Given the description of an element on the screen output the (x, y) to click on. 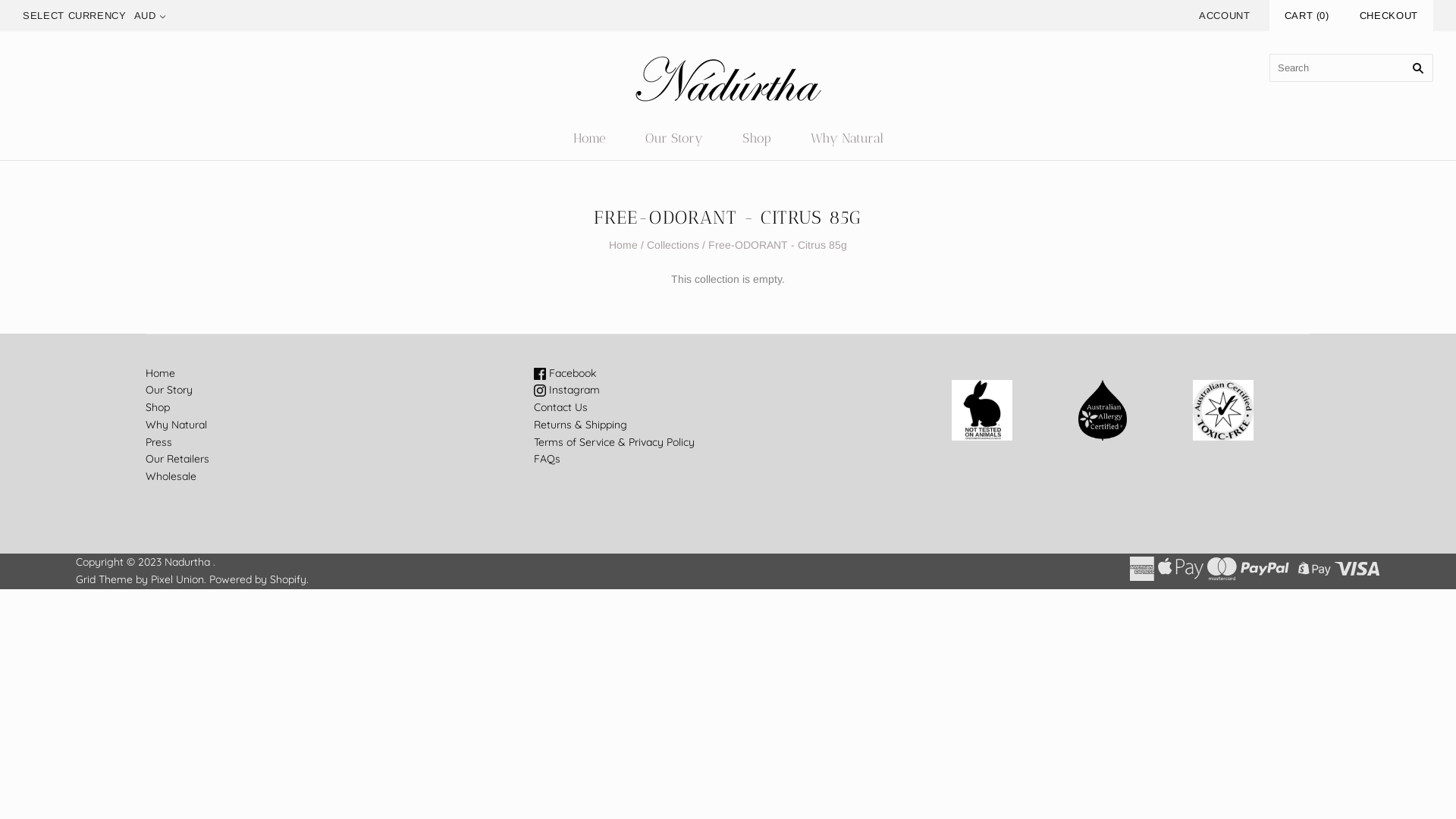
Our Story Element type: text (168, 389)
Our Retailers Element type: text (177, 458)
Shop Element type: text (755, 138)
Facebook Element type: text (564, 372)
FAQs Element type: text (546, 458)
Home Element type: text (622, 244)
Our Story Element type: text (672, 138)
Powered by Shopify Element type: text (257, 579)
CART (0) Element type: text (1306, 15)
Home Element type: text (589, 138)
ACCOUNT Element type: text (1224, 15)
Returns & Shipping Element type: text (580, 424)
Nadurtha Element type: text (187, 561)
Grid Theme by Pixel Union Element type: text (139, 579)
Why Natural Element type: text (846, 138)
Instagram Element type: text (566, 389)
Shop Element type: text (157, 407)
Home Element type: text (160, 372)
Collections Element type: text (672, 244)
CHECKOUT Element type: text (1388, 15)
Why Natural Element type: text (176, 424)
Terms of Service & Privacy Policy Element type: text (613, 441)
Wholesale Element type: text (170, 476)
Press Element type: text (158, 441)
Contact Us Element type: text (560, 407)
